Given the description of an element on the screen output the (x, y) to click on. 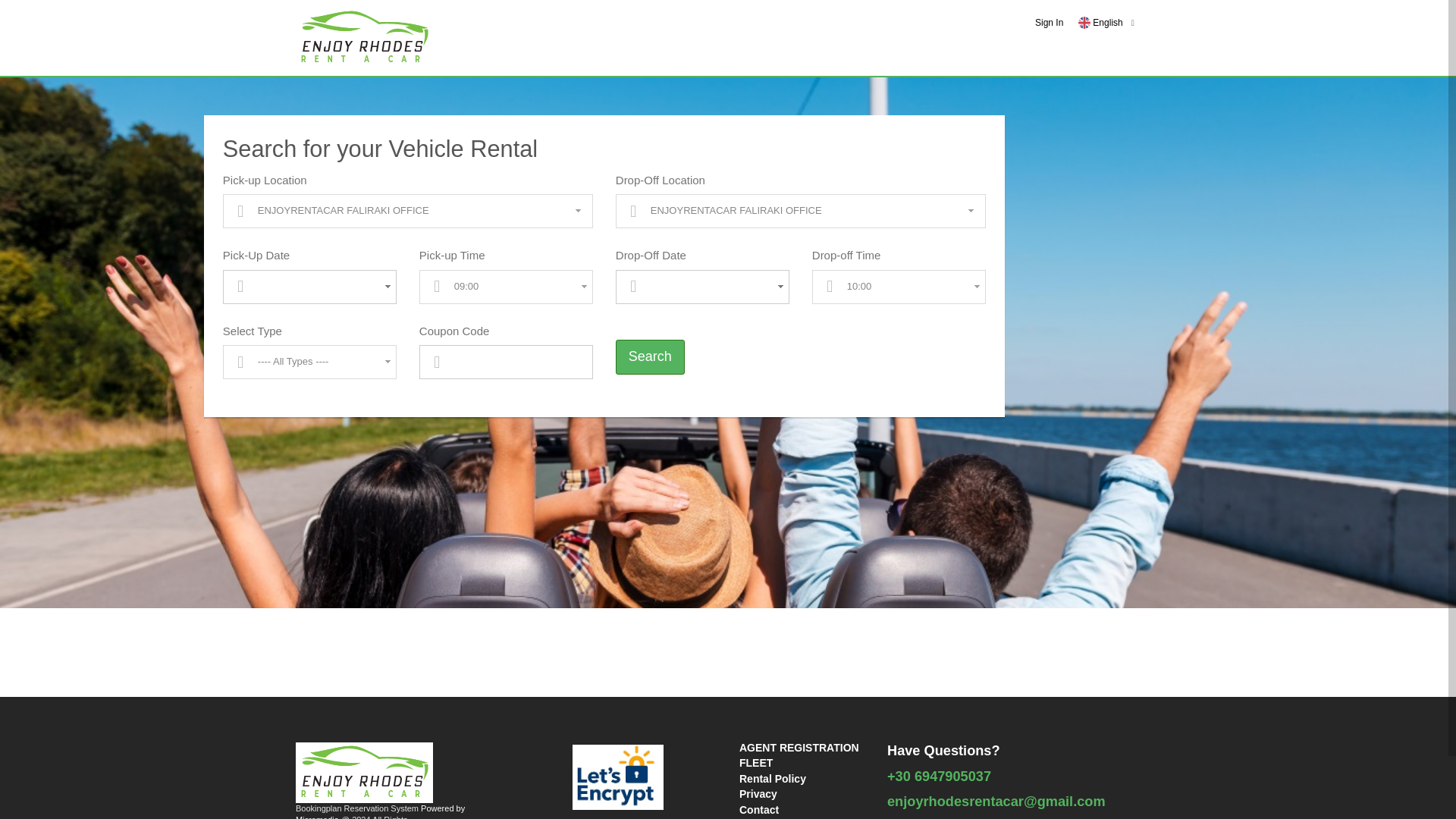
AGENT REGISTRATION (799, 747)
Sign In (1048, 22)
English (1100, 22)
Contact (758, 809)
Privacy (758, 793)
Bookingplan company logo (363, 37)
Image Title (1084, 22)
Search (649, 356)
Rental Policy (772, 778)
Powered by Micromedia (379, 811)
